Given the description of an element on the screen output the (x, y) to click on. 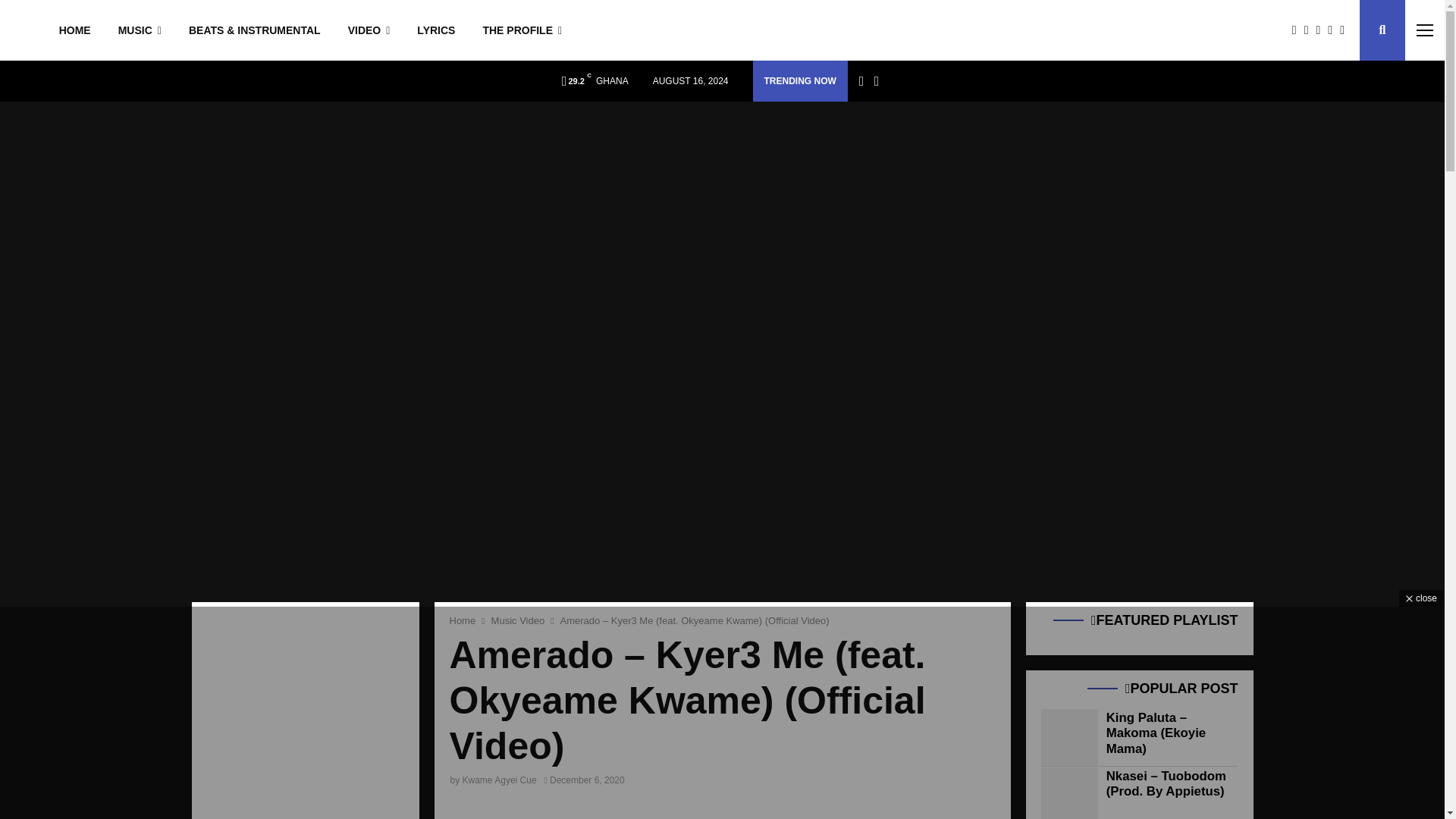
MUSIC (139, 30)
HOME (74, 30)
VIDEO (369, 30)
